Given the description of an element on the screen output the (x, y) to click on. 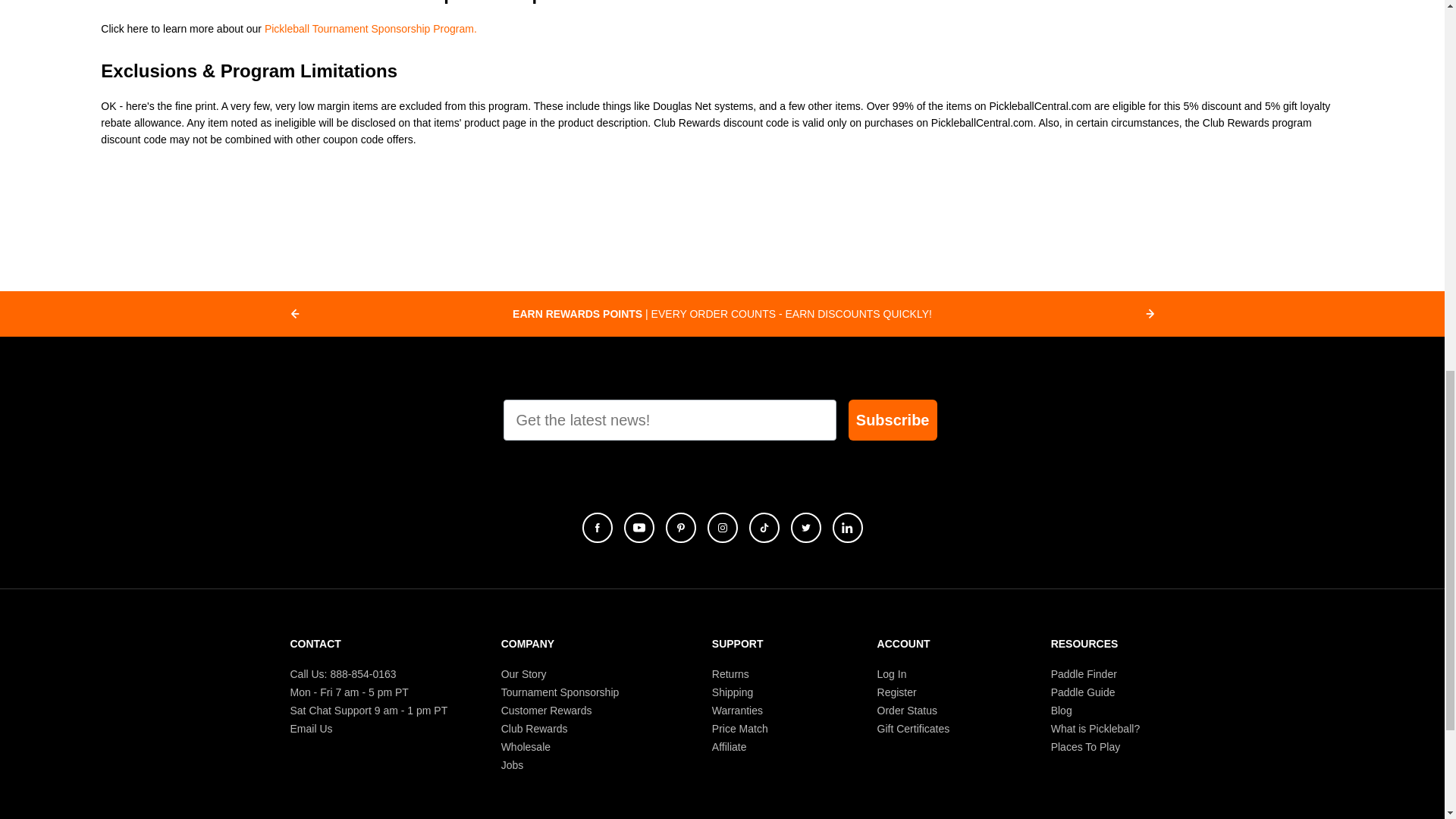
Facebook (597, 527)
Youtube (638, 527)
